Given the description of an element on the screen output the (x, y) to click on. 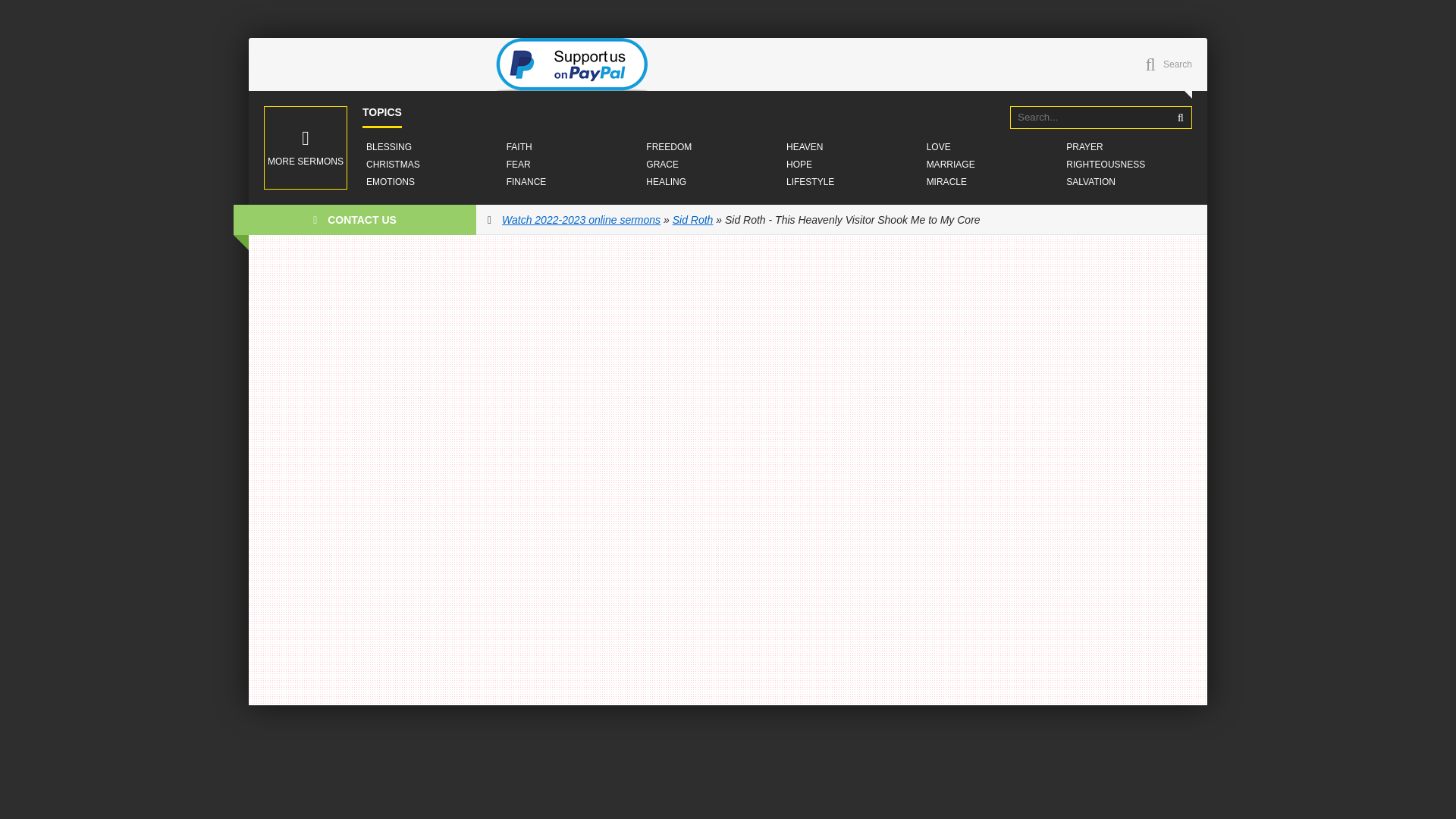
MARRIAGE (950, 164)
GRACE (662, 164)
Homepage (362, 63)
FREEDOM (668, 146)
FINANCE (526, 181)
SALVATION (1090, 181)
CHRISTMAS (392, 164)
HEALING (666, 181)
Sermons.love (362, 63)
EMOTIONS (390, 181)
FEAR (518, 164)
LOVE (939, 146)
FAITH (518, 146)
BLESSING (388, 146)
Watch 2022-2023 online sermons (581, 219)
